Given the description of an element on the screen output the (x, y) to click on. 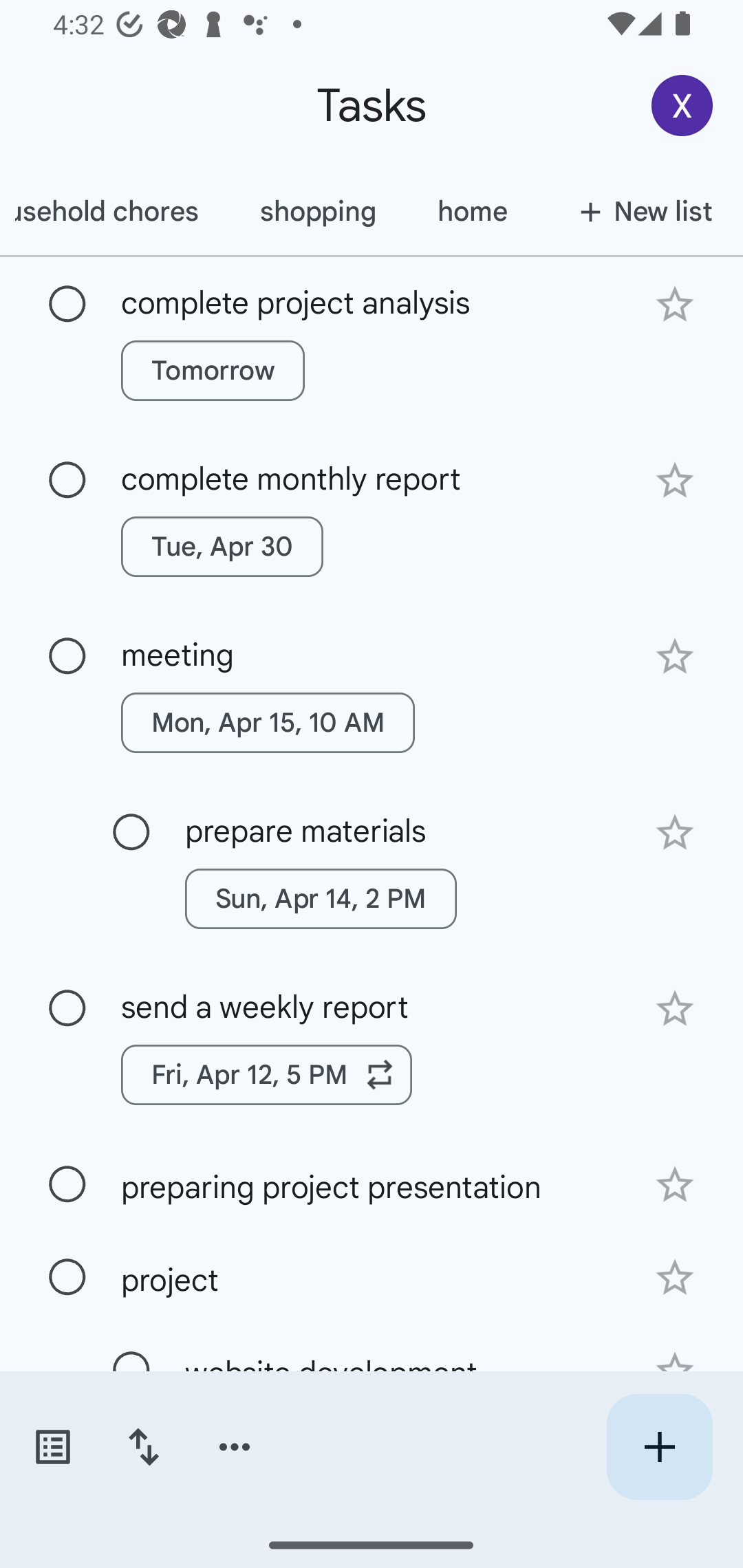
household chores (114, 211)
shopping (317, 211)
home (471, 211)
New list (640, 211)
Add star (674, 303)
Mark as complete (67, 304)
Tomorrow (212, 369)
Add star (674, 480)
Mark as complete (67, 480)
Tue, Apr 30 (222, 546)
Add star (674, 656)
Mark as complete (67, 655)
Mon, Apr 15, 10 AM (267, 722)
Add star (674, 832)
Mark as complete (131, 833)
Sun, Apr 14, 2 PM (320, 897)
Add star (674, 1007)
Mark as complete (67, 1008)
Fri, Apr 12, 5 PM (266, 1074)
Add star (674, 1184)
Mark as complete (67, 1184)
Add star (674, 1277)
Switch task lists (52, 1447)
Create new task (659, 1446)
Change sort order (143, 1446)
More options (234, 1446)
